Given the description of an element on the screen output the (x, y) to click on. 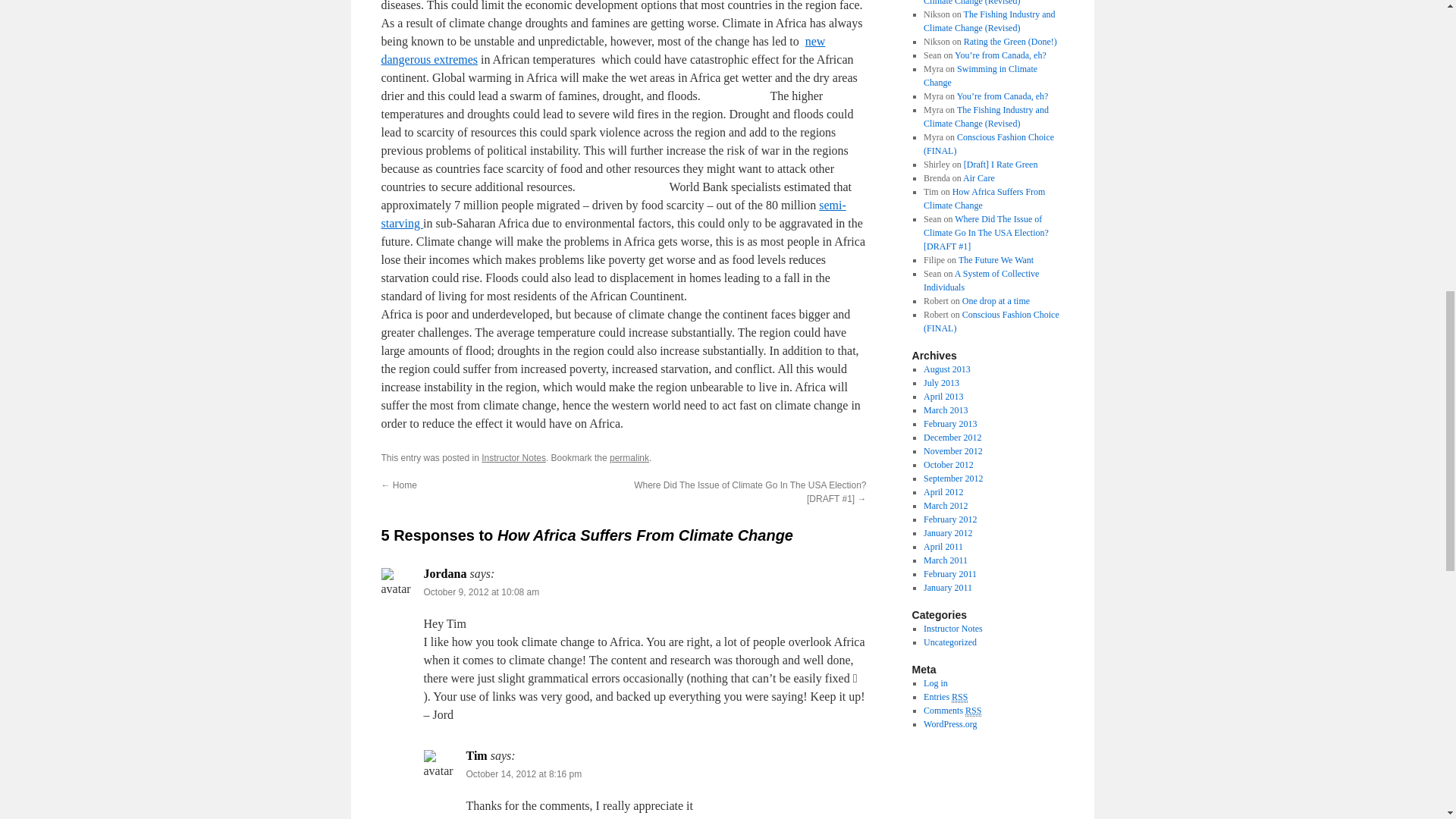
permalink (629, 457)
Instructor Notes (513, 457)
Really Simple Syndication (973, 710)
Really Simple Syndication (960, 696)
semi-starving (612, 214)
October 14, 2012 at 8:16 pm (522, 774)
new dangerous extremes (602, 50)
Permalink to How  Africa Suffers From Climate Change (629, 457)
October 9, 2012 at 10:08 am (480, 592)
